Given the description of an element on the screen output the (x, y) to click on. 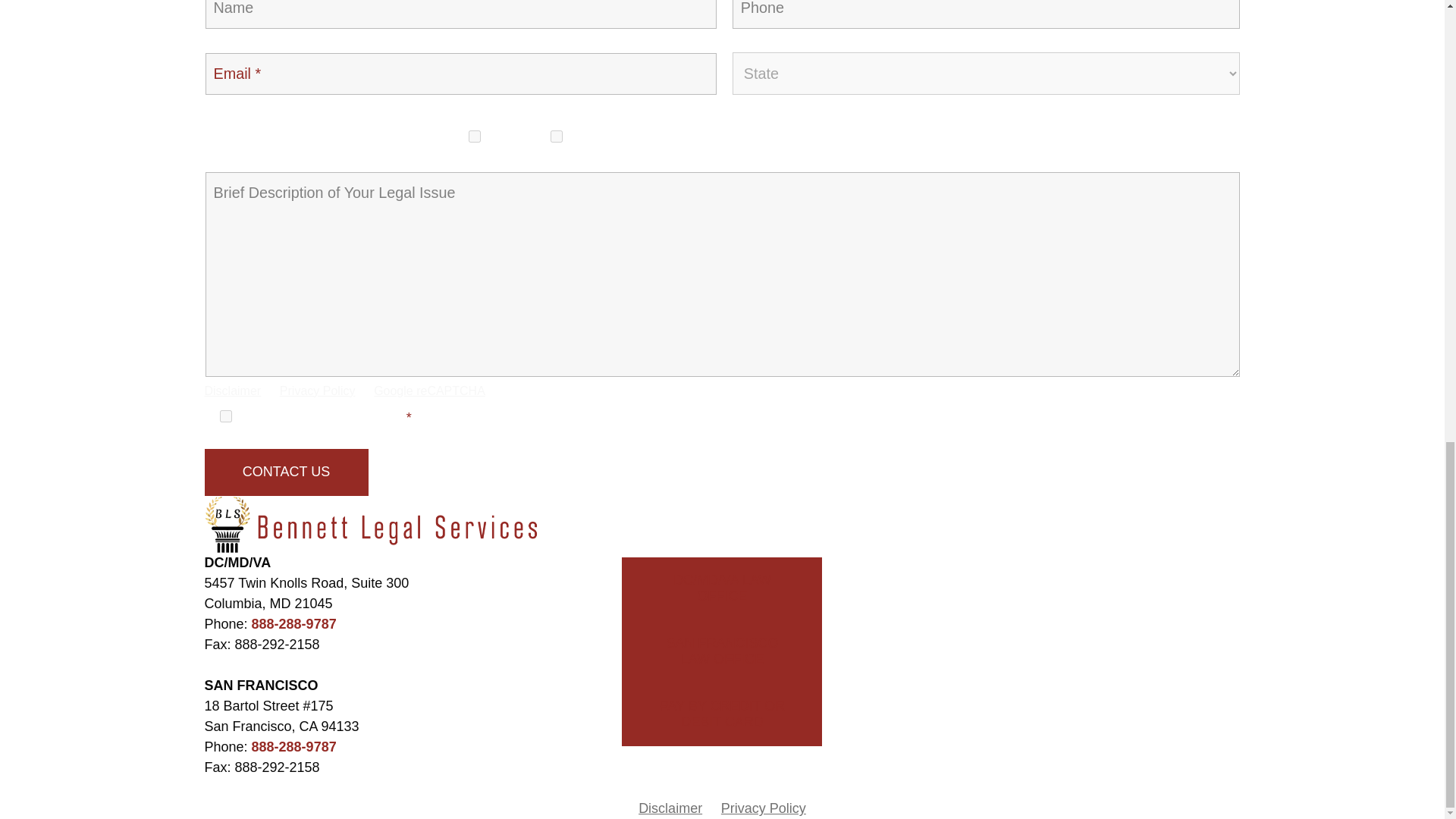
Disclaimer (233, 390)
SAN FRANCISCO LAW OFFICE (721, 651)
PAY BY CREDIT OR DEBIT CARD (721, 714)
logo (377, 524)
I have read the disclaimer. (225, 416)
Email (556, 136)
Google reCAPTCHA (429, 390)
888-288-9787 (293, 746)
CONTACT US (286, 472)
